Given the description of an element on the screen output the (x, y) to click on. 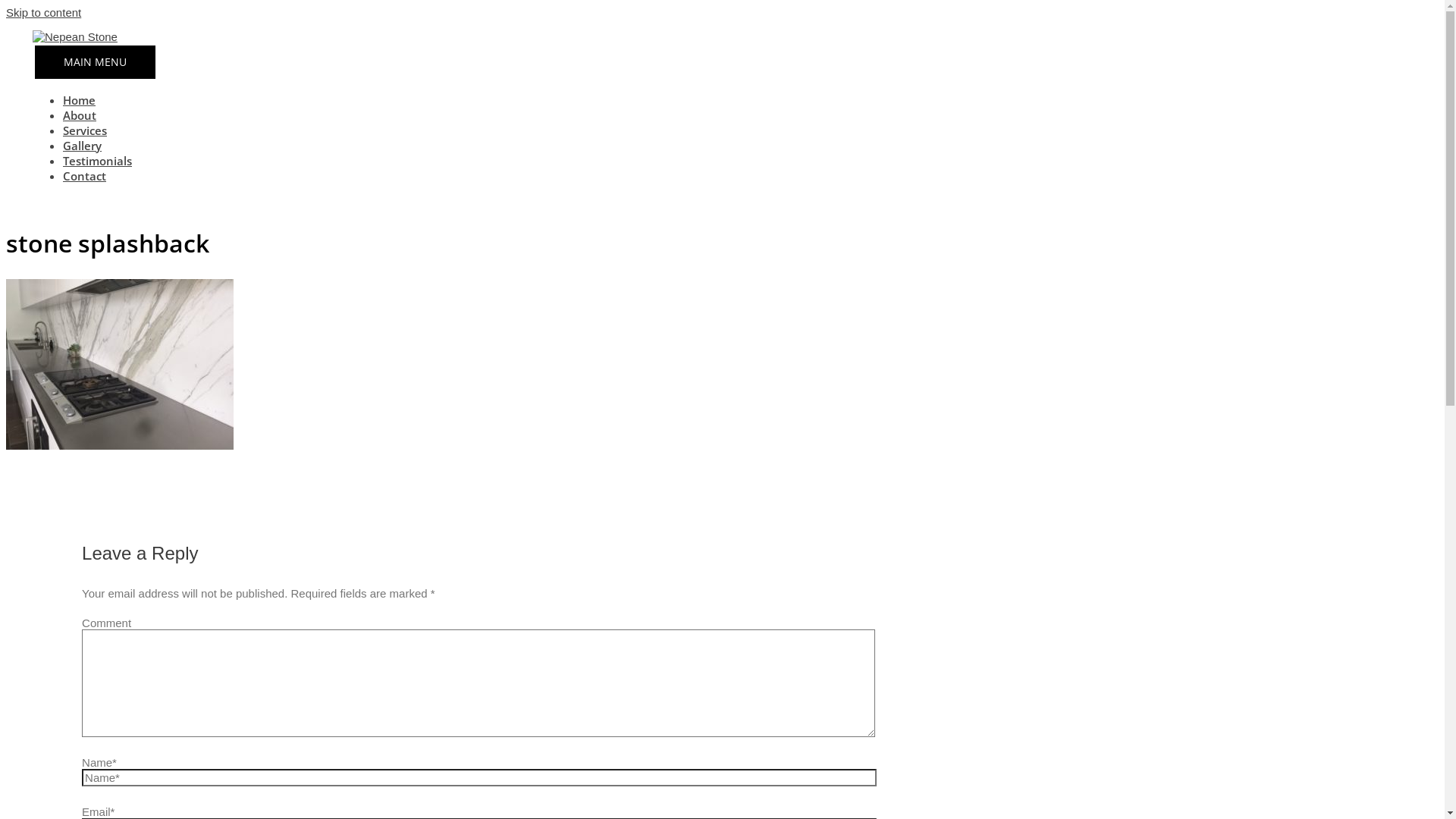
Home Element type: text (78, 99)
Gallery Element type: text (81, 145)
Contact Element type: text (84, 175)
Services Element type: text (84, 130)
Testimonials Element type: text (96, 160)
Skip to content Element type: text (43, 12)
MAIN MENU Element type: text (94, 62)
About Element type: text (79, 114)
